Given the description of an element on the screen output the (x, y) to click on. 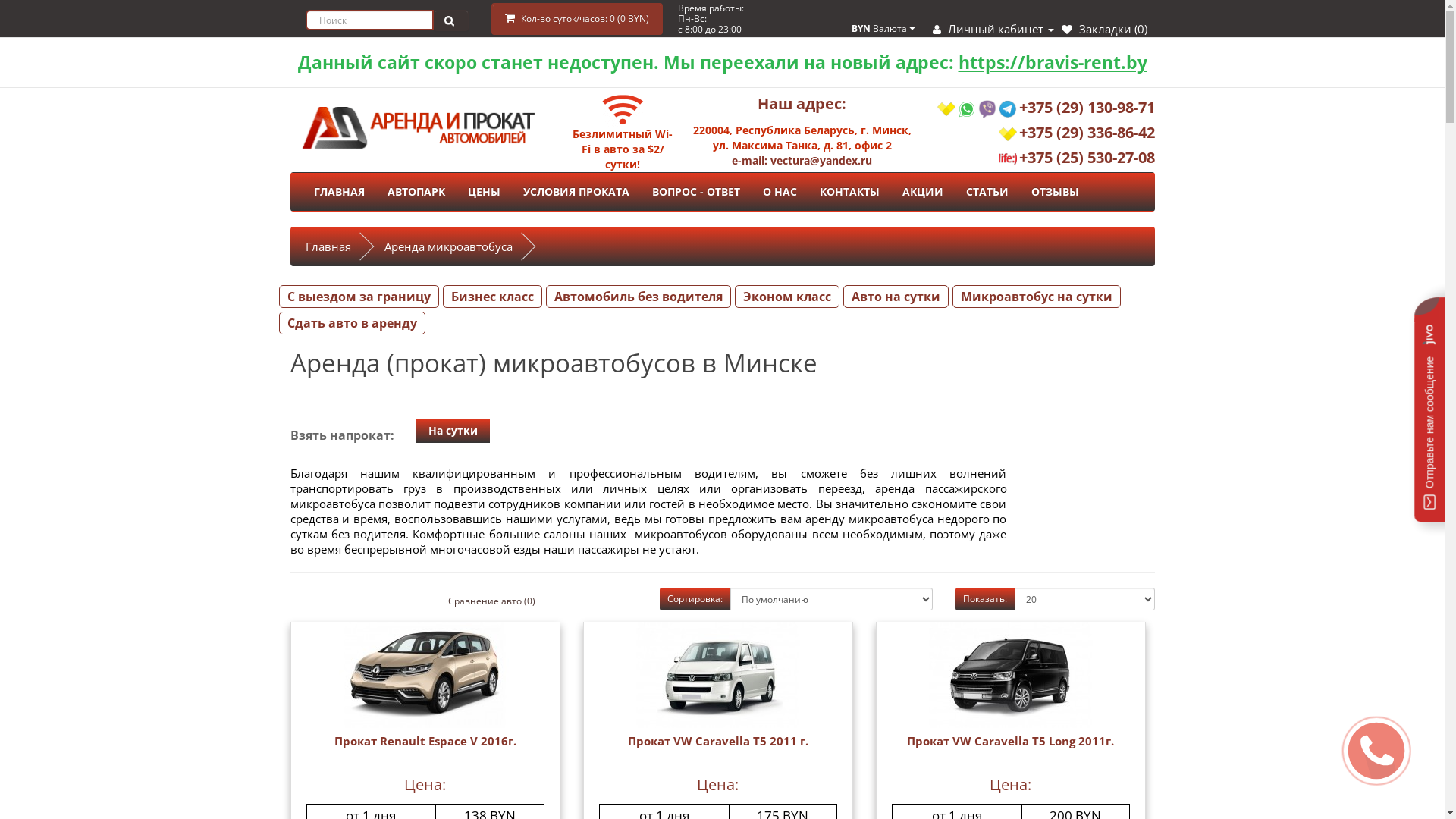
https://bravis-rent.by Element type: text (1052, 61)
+375 (29) 130-98-71 Element type: text (1086, 107)
+375 (29) 336-86-42 Element type: text (1086, 132)
e-mail: vectura@yandex.ru Element type: text (801, 160)
+375 (25) 530-27-08 Element type: text (1086, 157)
